Given the description of an element on the screen output the (x, y) to click on. 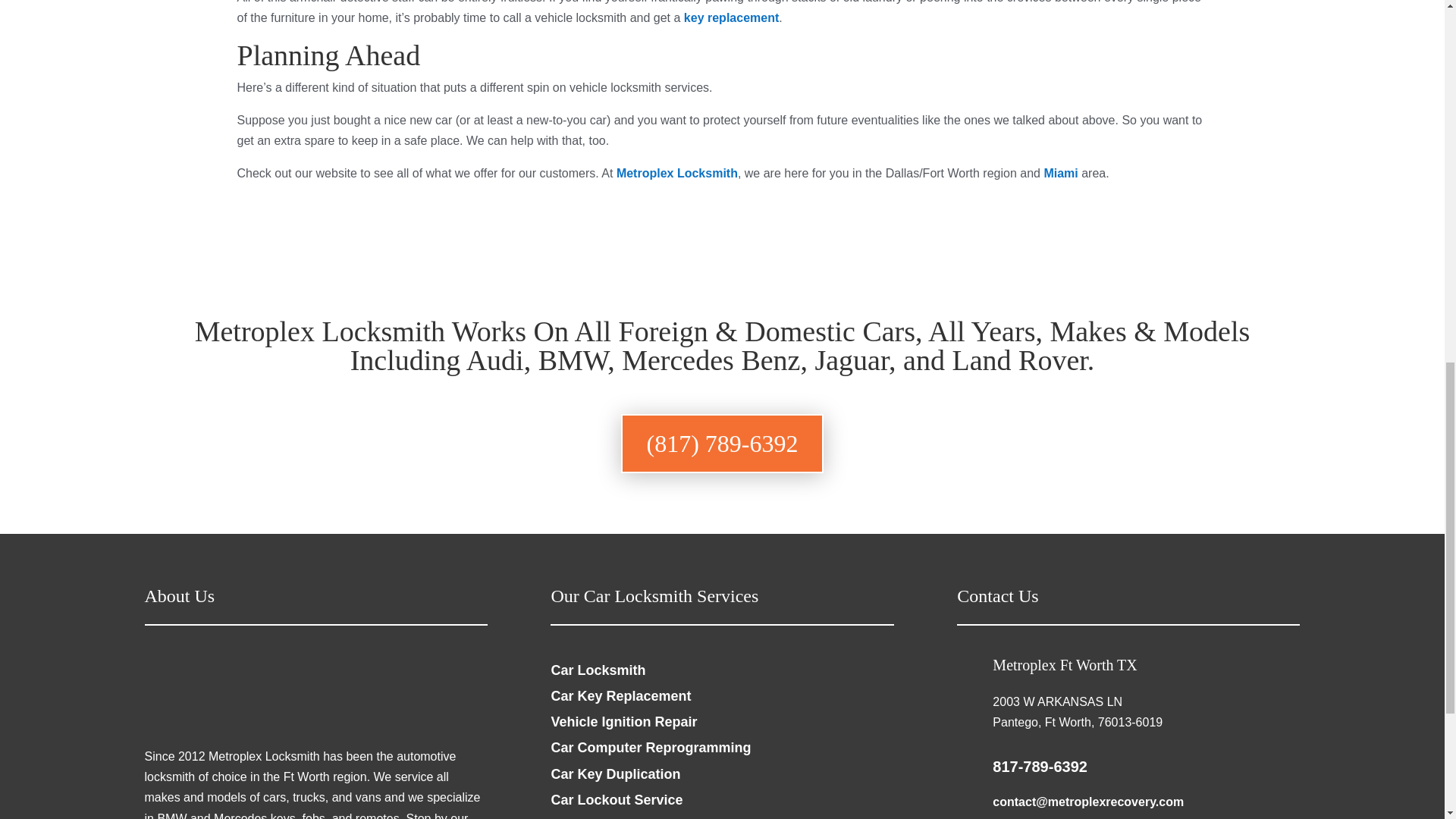
homepage (259, 723)
